Given the description of an element on the screen output the (x, y) to click on. 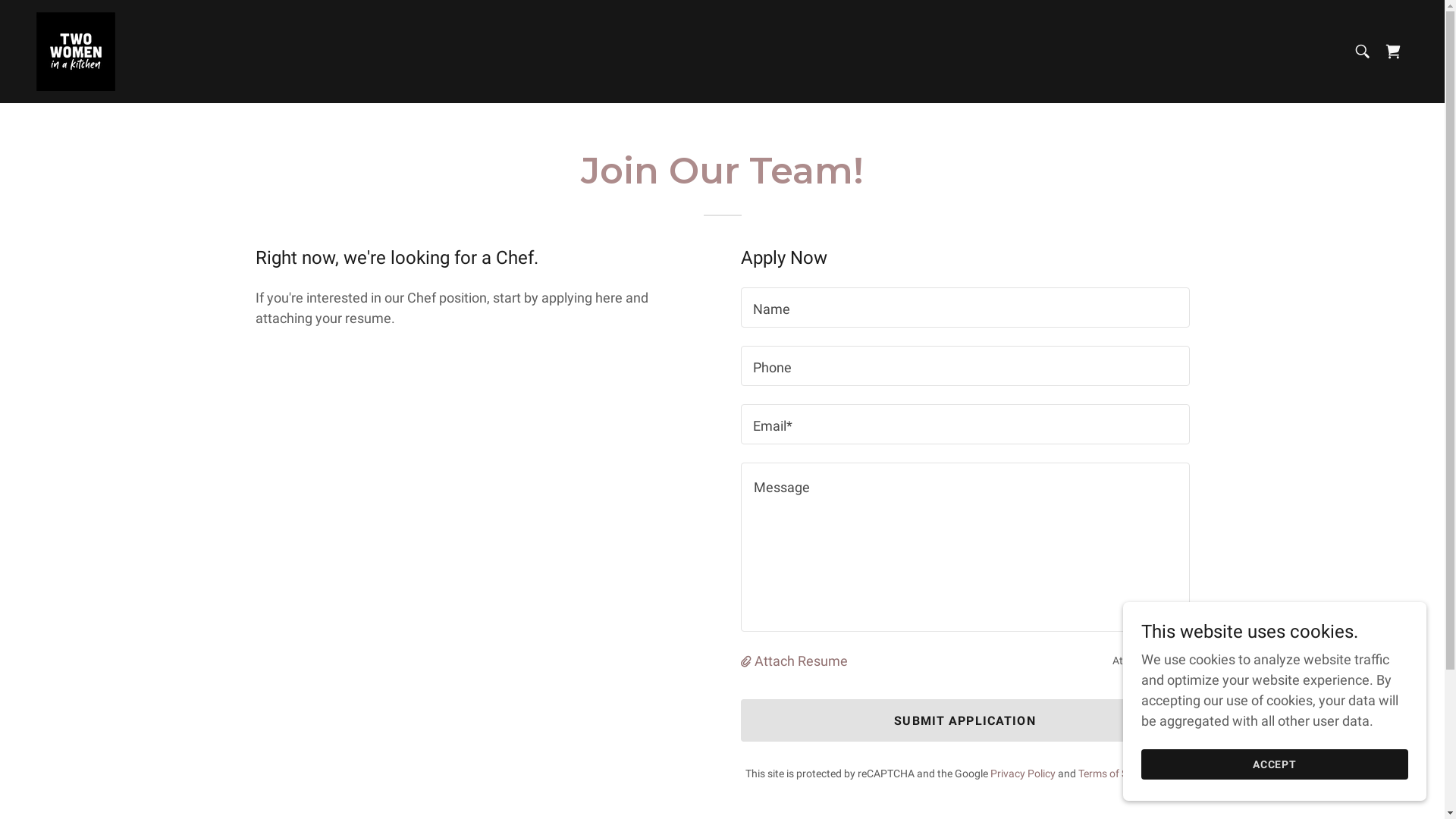
SUBMIT APPLICATION Element type: text (964, 720)
Two Women in a Kitchen, Inc. Element type: hover (75, 50)
ACCEPT Element type: text (1274, 764)
Privacy Policy Element type: text (1022, 773)
Terms of Service Element type: text (1116, 773)
